Given the description of an element on the screen output the (x, y) to click on. 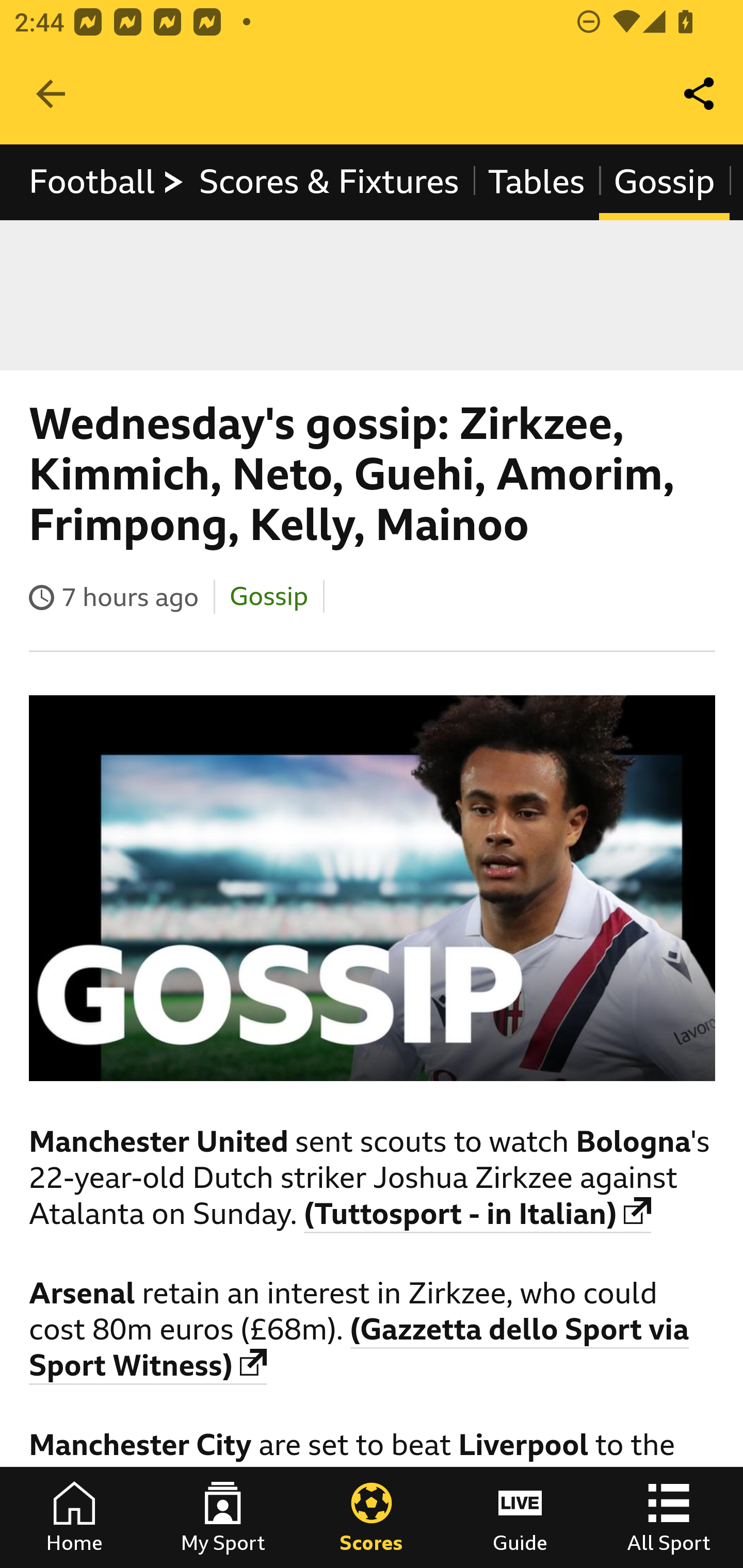
Navigate up (50, 93)
Share (699, 93)
Football  (106, 181)
Scores & Fixtures (329, 181)
Tables (536, 181)
Gossip (664, 181)
Gossip (267, 596)
Home (74, 1517)
My Sport (222, 1517)
Guide (519, 1517)
All Sport (668, 1517)
